Given the description of an element on the screen output the (x, y) to click on. 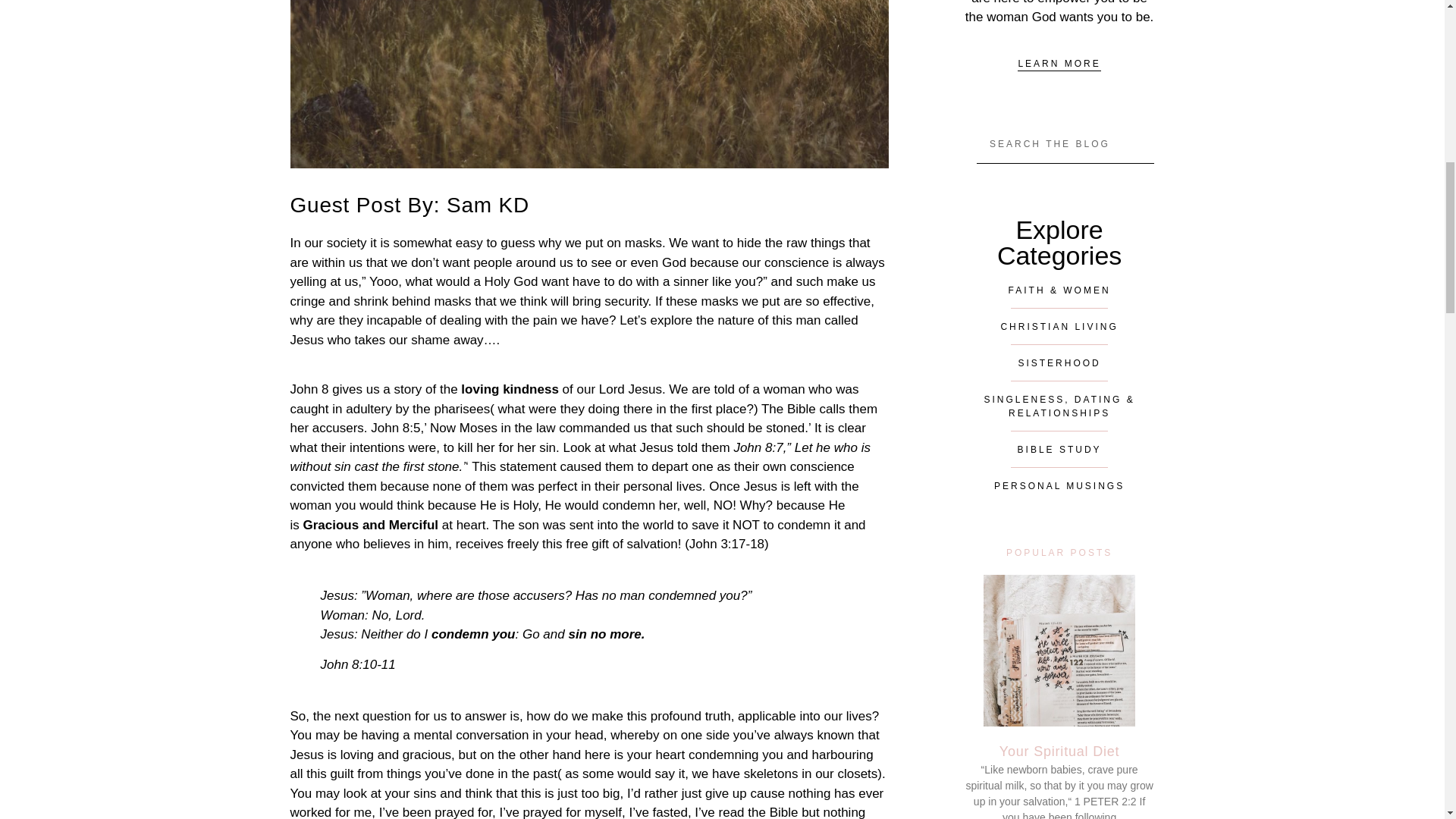
BIBLE STUDY (1058, 449)
Your Spiritual Diet (1058, 751)
hanny-naibaho-djLvhqqzesU-unsplash (588, 84)
PERSONAL MUSINGS (1058, 486)
SISTERHOOD (1058, 363)
LEARN MORE (1058, 63)
CHRISTIAN LIVING (1058, 326)
